Given the description of an element on the screen output the (x, y) to click on. 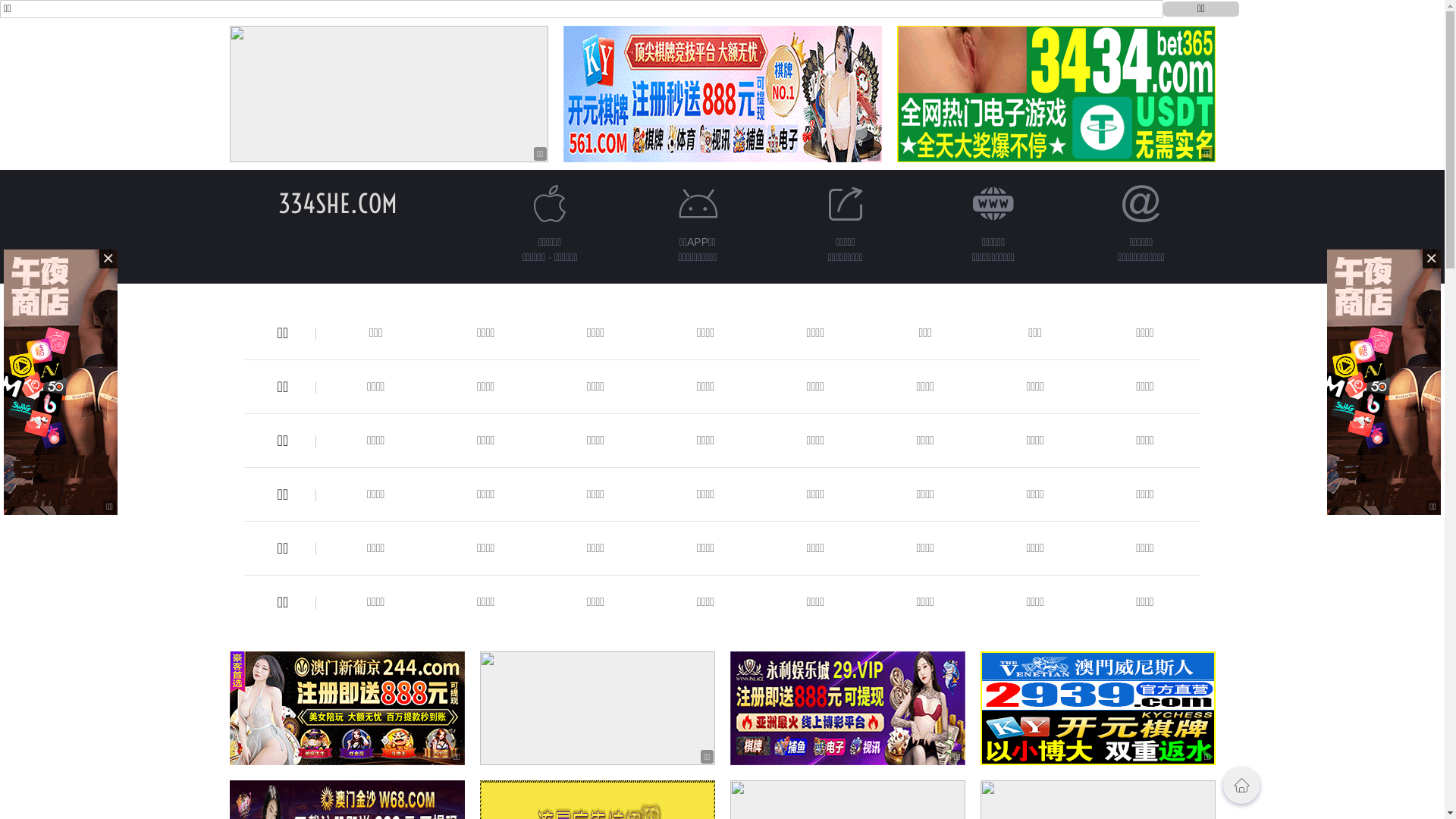
334SHE.COM Element type: text (337, 203)
